Given the description of an element on the screen output the (x, y) to click on. 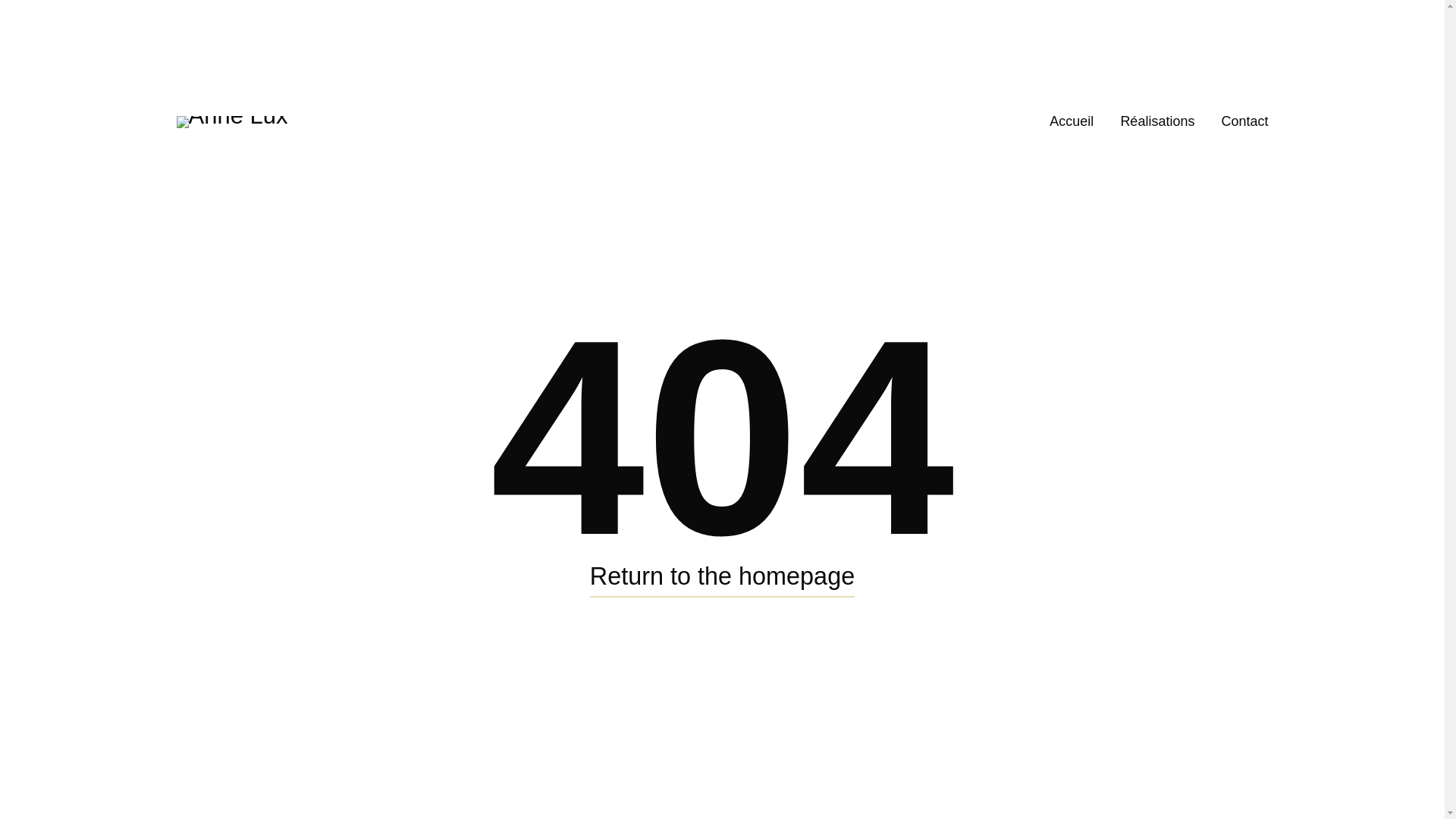
Return to the homepage Element type: text (721, 577)
Contact Element type: text (1243, 121)
Accueil Element type: text (1071, 121)
